Given the description of an element on the screen output the (x, y) to click on. 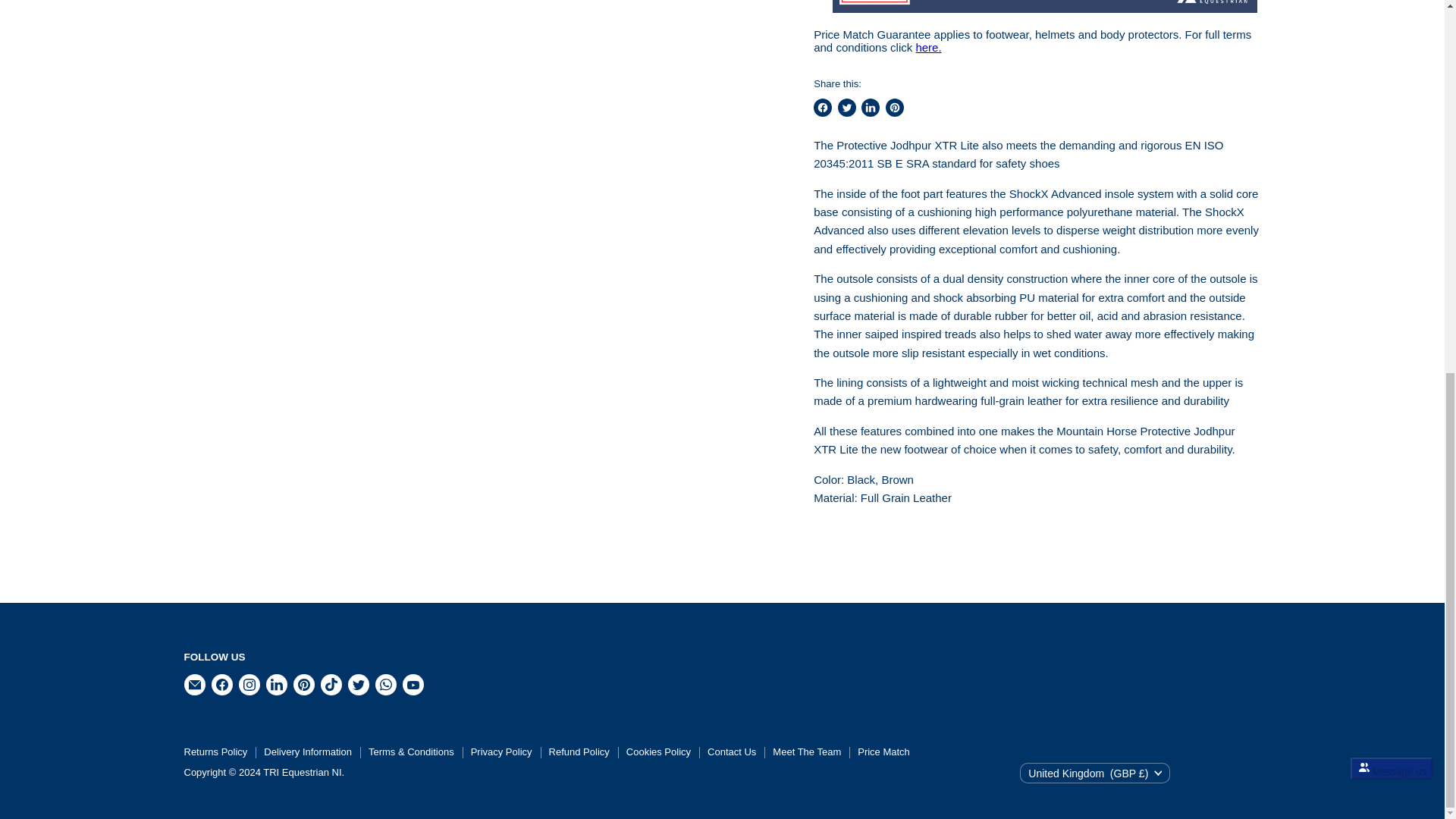
E-mail (194, 684)
Price Match Guarantee (927, 47)
Twitter (357, 684)
TikTok (330, 684)
WhatsApp (384, 684)
Facebook (221, 684)
LinkedIn (275, 684)
Shopify online store chat (1391, 99)
Pinterest (303, 684)
Instagram (248, 684)
YouTube (412, 684)
